Given the description of an element on the screen output the (x, y) to click on. 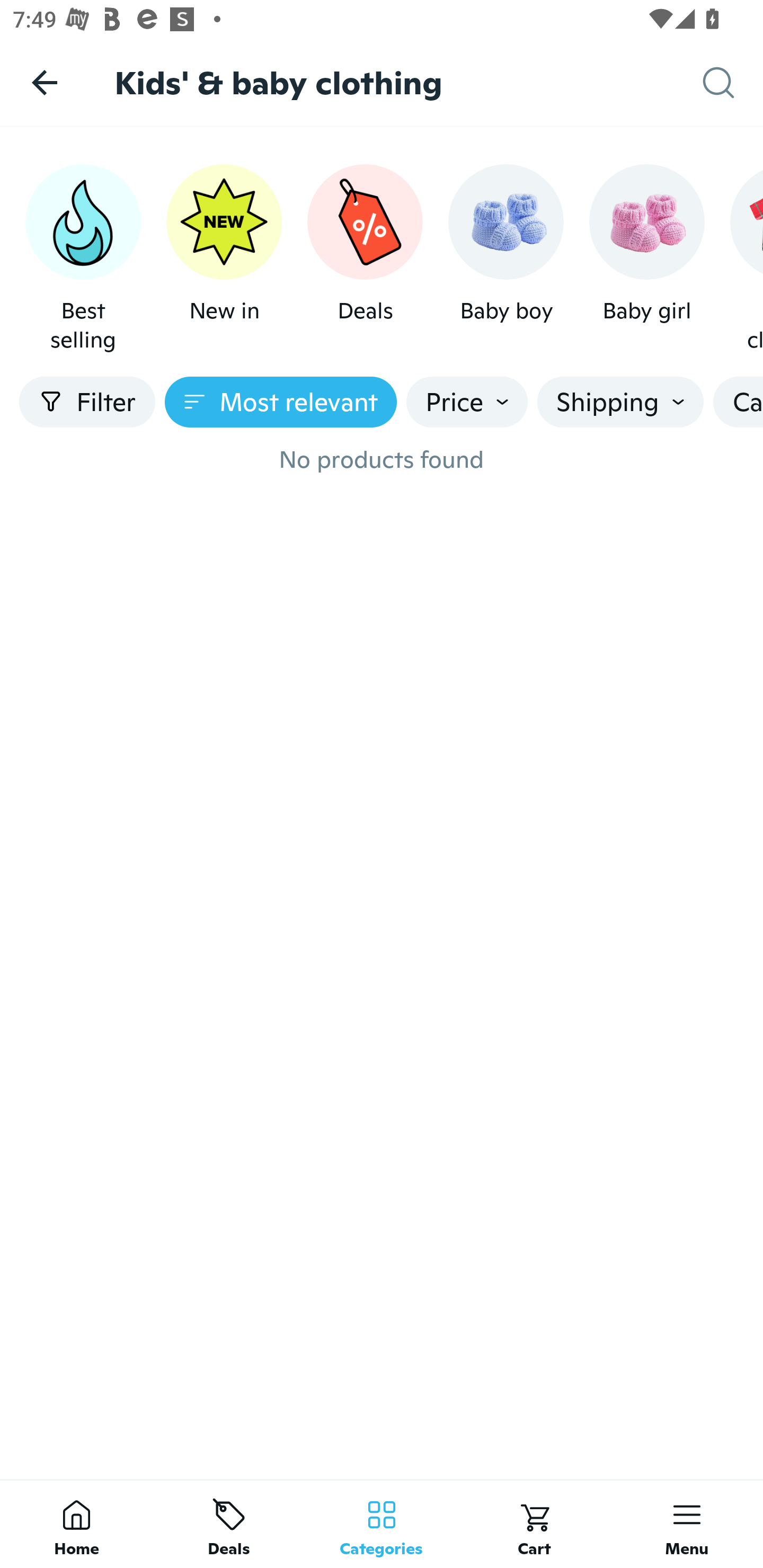
Navigate up (44, 82)
Search (732, 82)
Best selling (83, 259)
New in (223, 259)
Deals (364, 259)
Baby boy (505, 259)
Baby girl (647, 259)
Filter (86, 402)
Most relevant (280, 402)
Price (466, 402)
Shipping (620, 402)
Home (76, 1523)
Deals (228, 1523)
Categories (381, 1523)
Cart (533, 1523)
Menu (686, 1523)
